Given the description of an element on the screen output the (x, y) to click on. 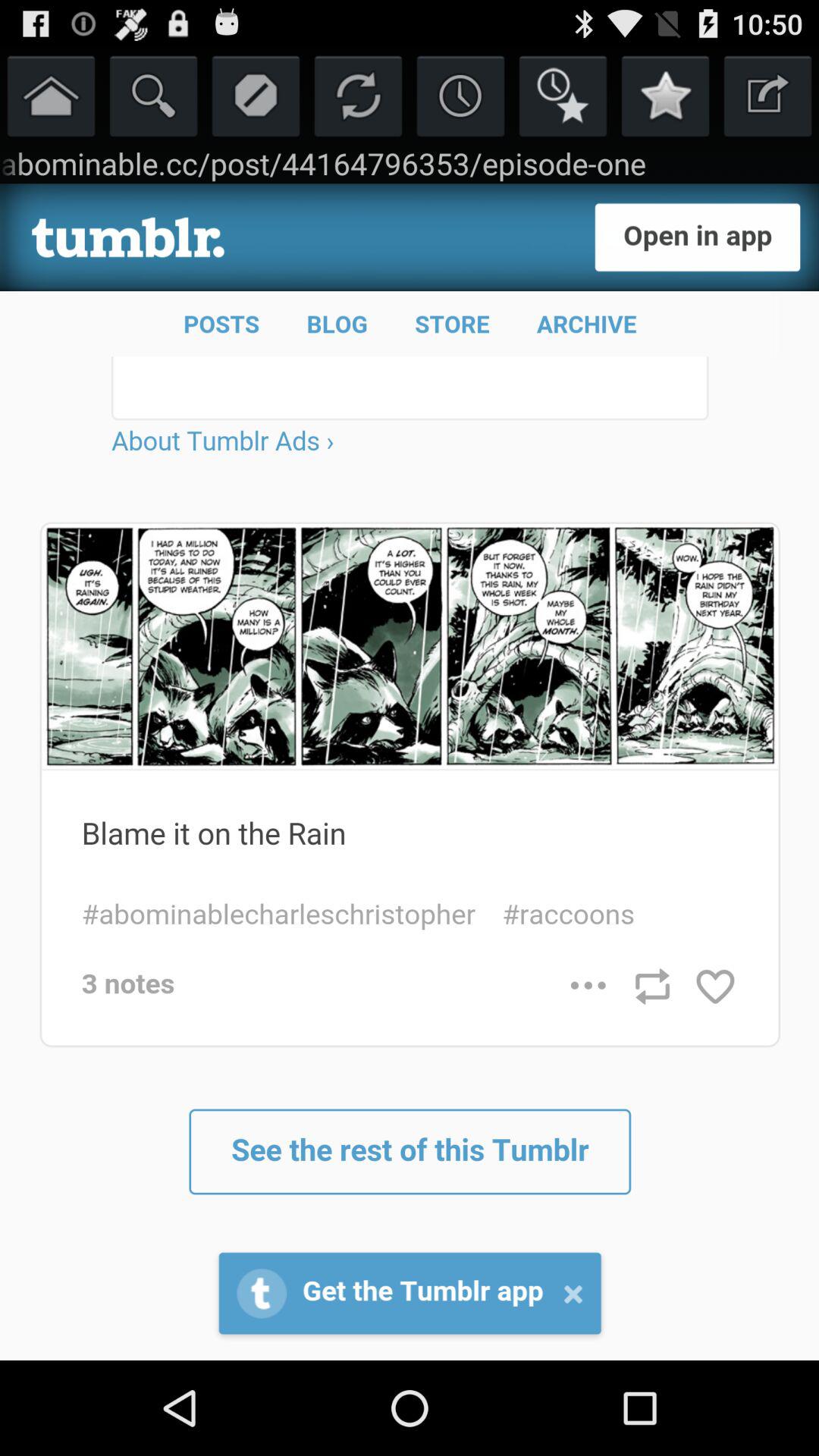
favourite (562, 95)
